Given the description of an element on the screen output the (x, y) to click on. 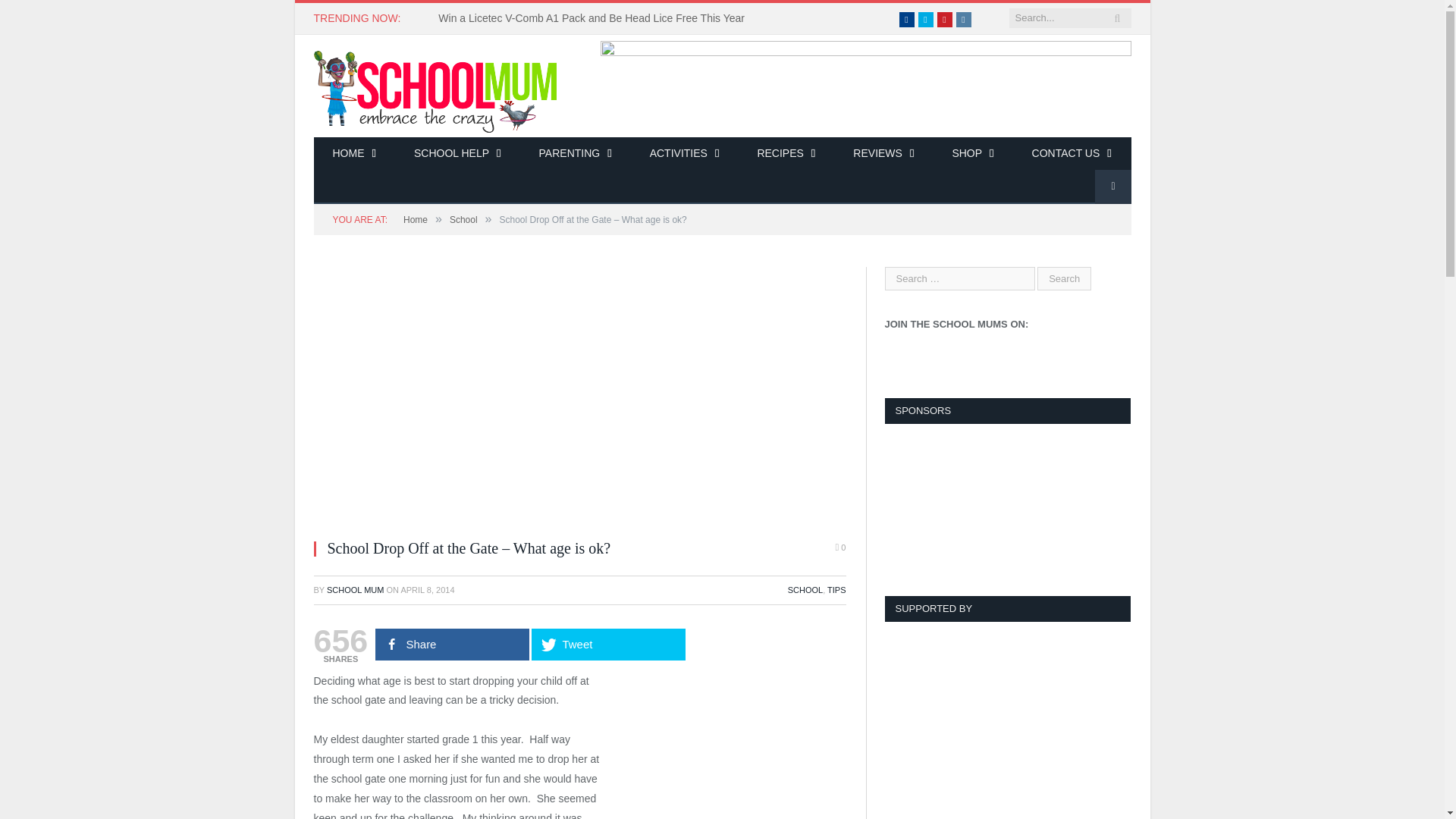
RECIPES (786, 154)
SCHOOL HELP (456, 154)
Pinterest (944, 19)
Search (1063, 278)
ACTIVITIES (684, 154)
Facebook (906, 19)
2014-04-08 (427, 589)
Twitter (925, 19)
Facebook (906, 19)
Twitter (925, 19)
Instagram (963, 19)
PARENTING (574, 154)
School Mum (435, 85)
Instagram (963, 19)
Win a Licetec V-Comb A1 Pack and Be Head Lice Free This Year (595, 18)
